Given the description of an element on the screen output the (x, y) to click on. 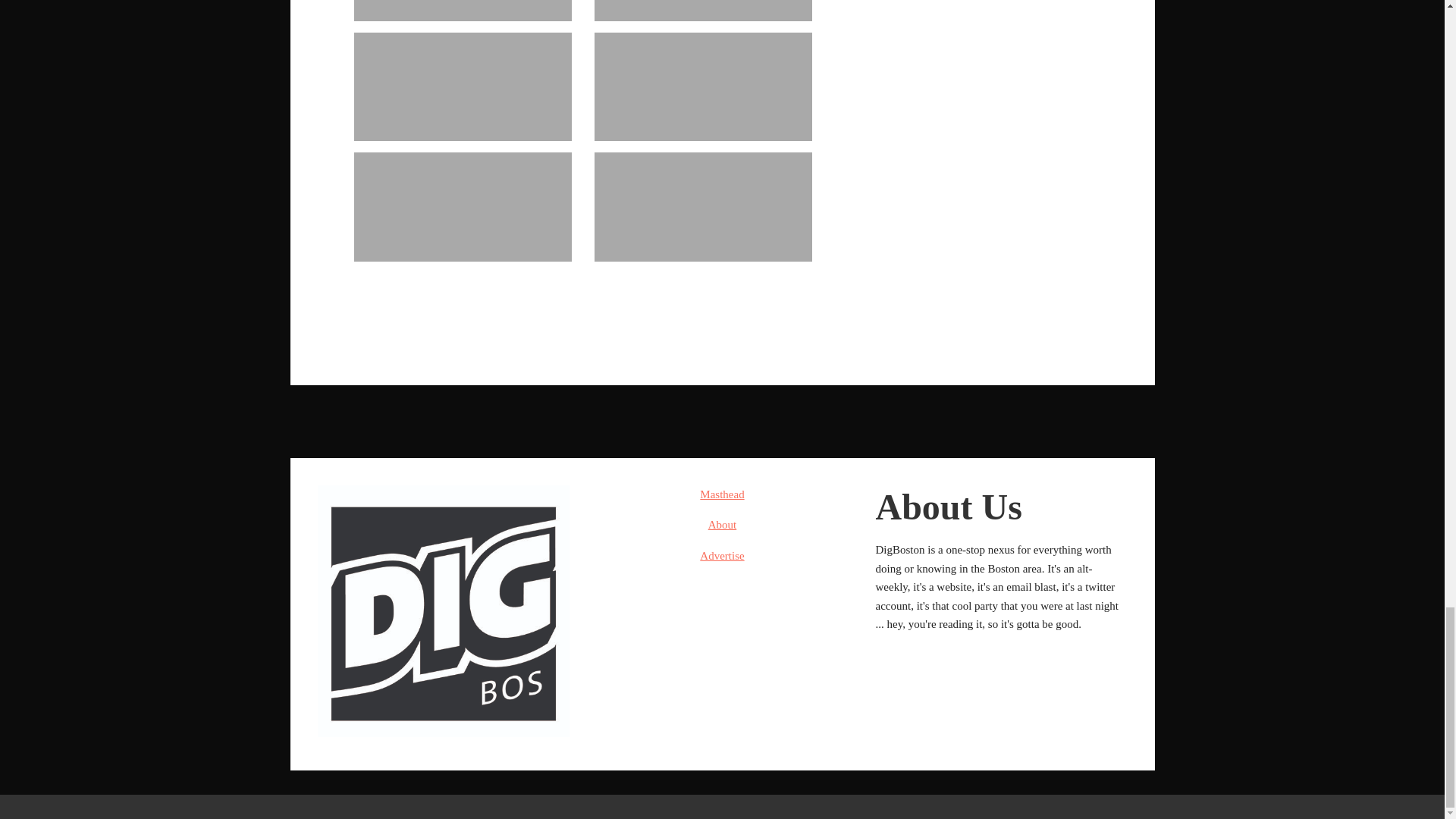
Advertise (722, 555)
Masthead (722, 494)
About (721, 524)
